Given the description of an element on the screen output the (x, y) to click on. 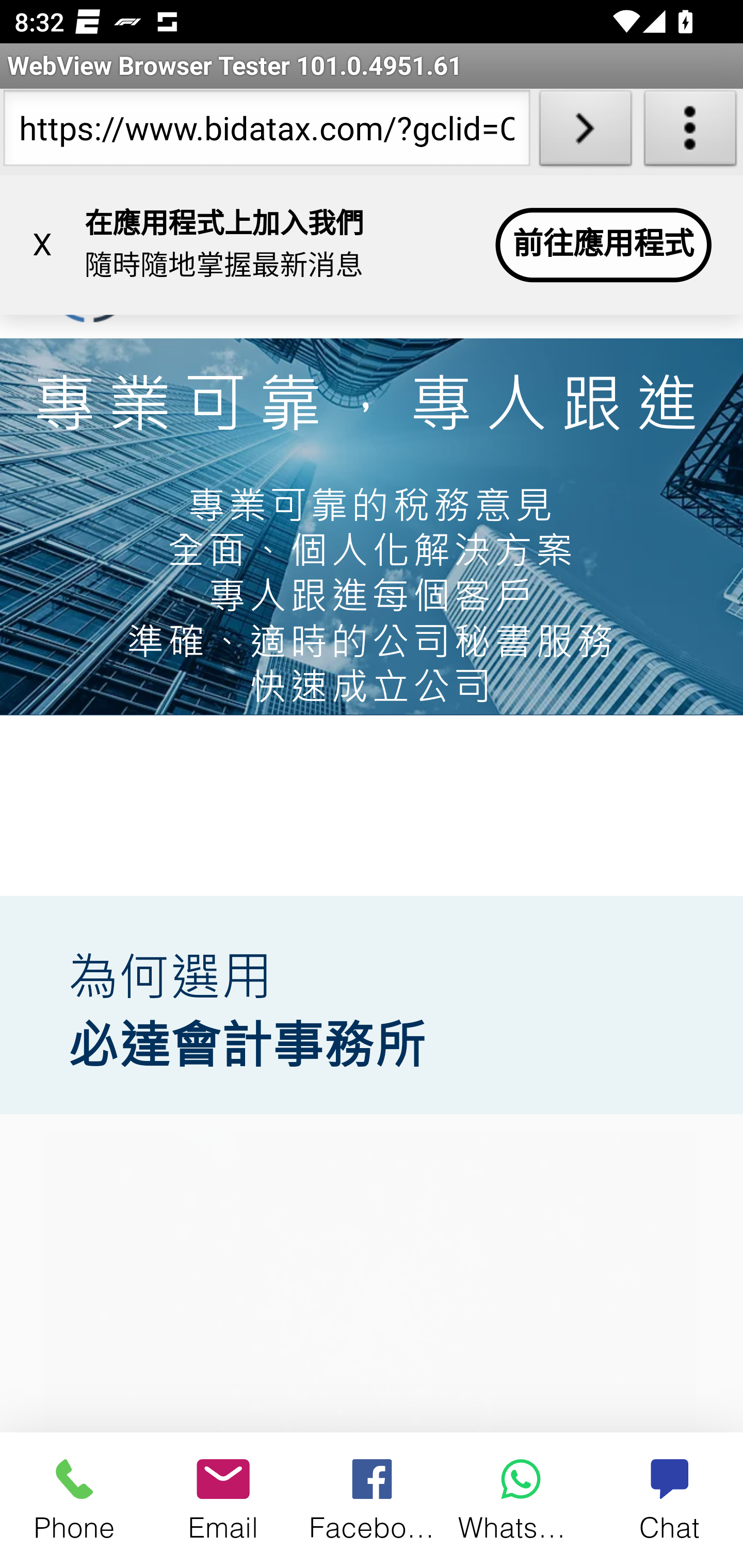
Load URL (585, 132)
About WebView (690, 132)
X (42, 245)
Phone (74, 1499)
Email (222, 1499)
Facebook (372, 1499)
WhatsApp (520, 1499)
Chat (669, 1499)
